Given the description of an element on the screen output the (x, y) to click on. 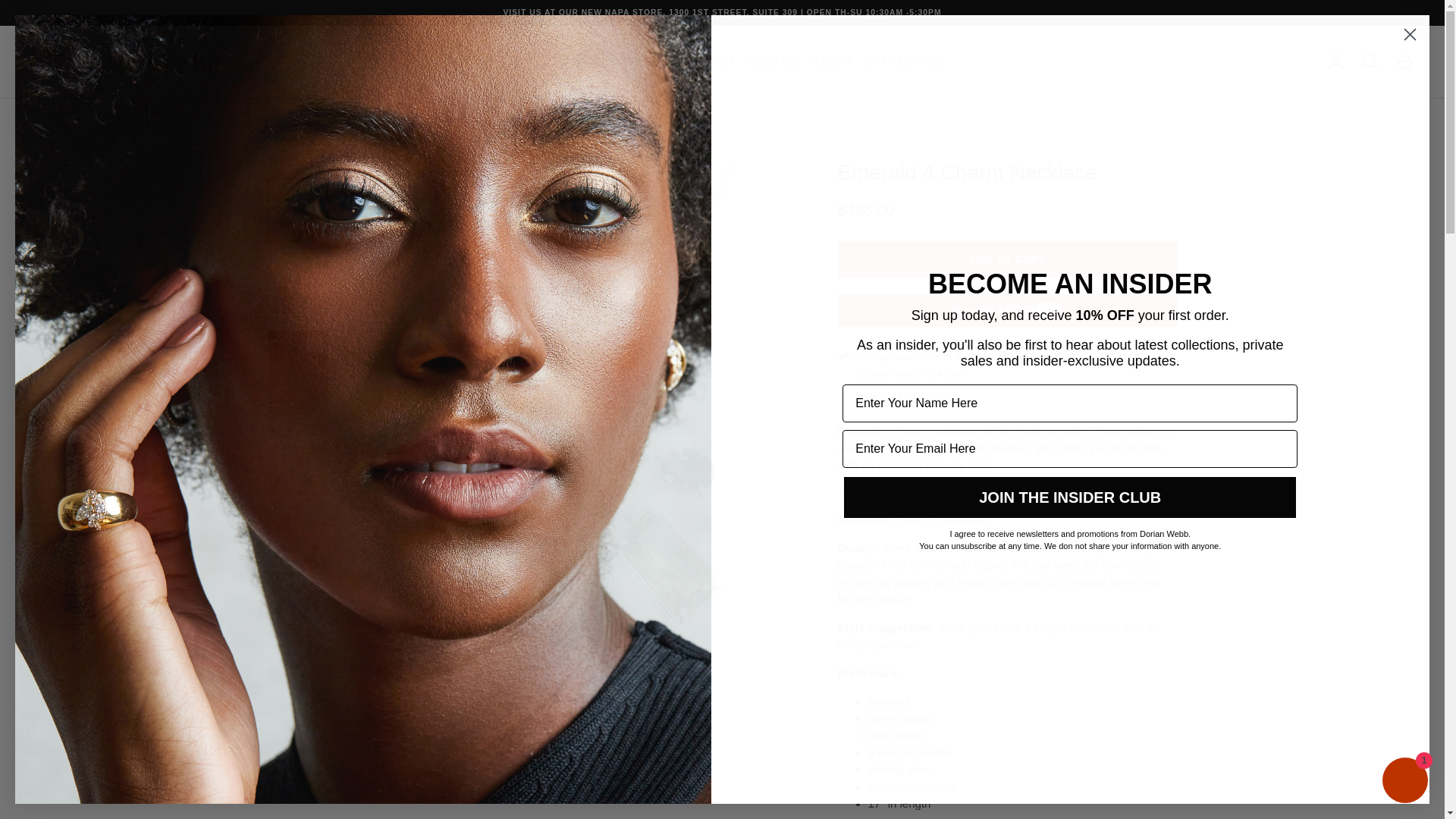
SHOP (517, 62)
COLLECTIONS (588, 62)
Shopify online store chat (1404, 781)
